Given the description of an element on the screen output the (x, y) to click on. 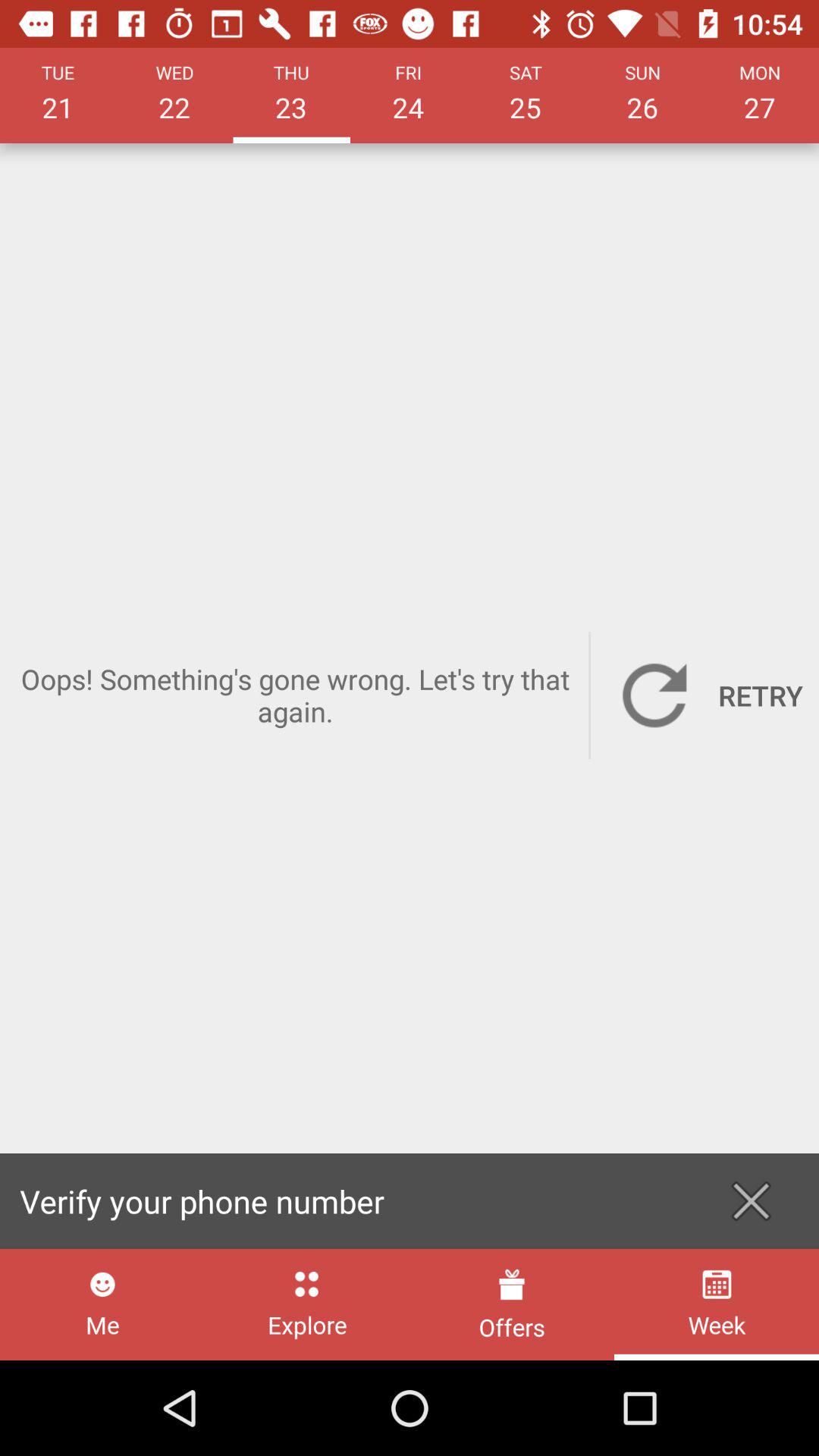
click icon next to week item (511, 1304)
